Given the description of an element on the screen output the (x, y) to click on. 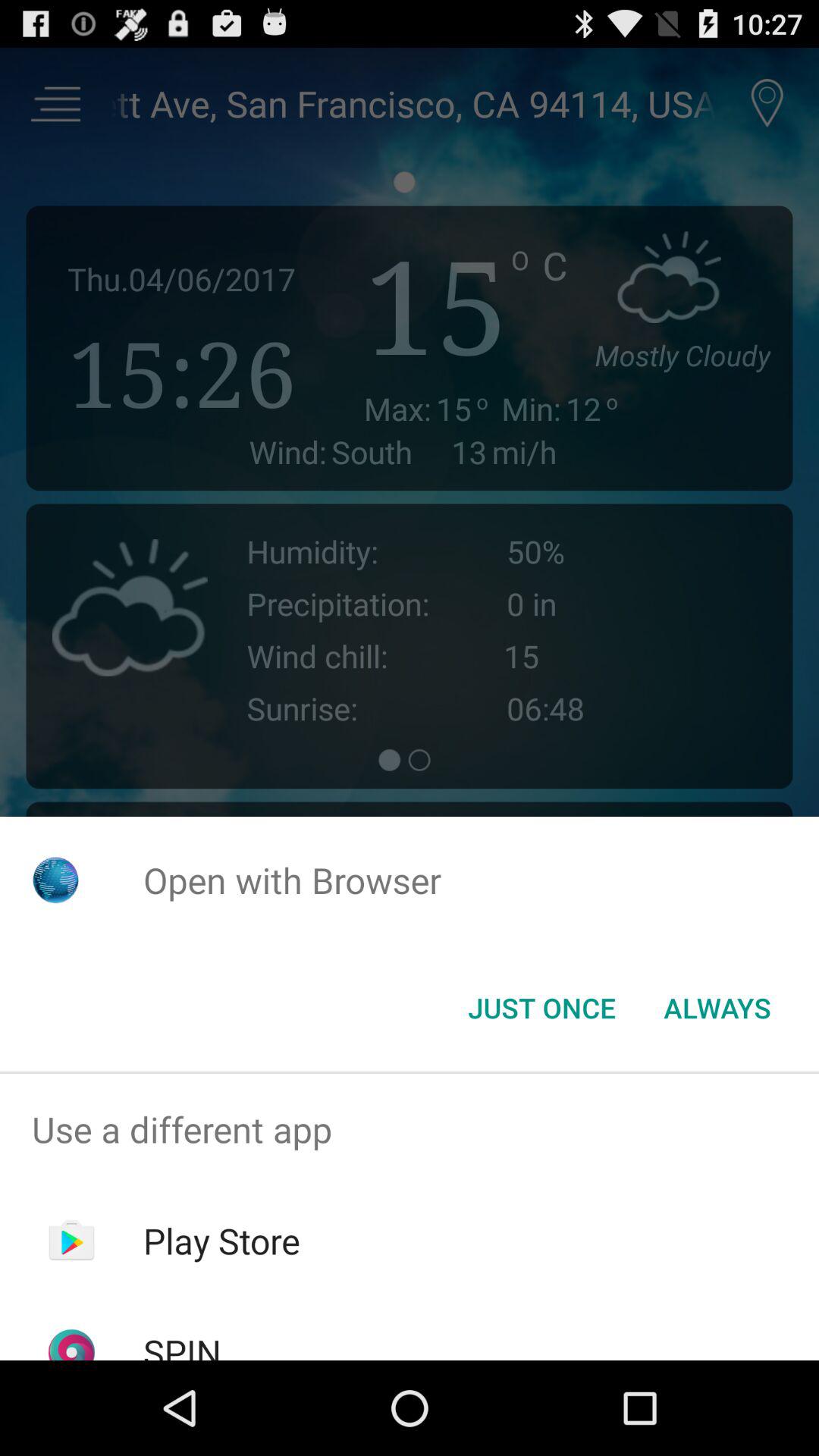
launch the button to the right of the just once (717, 1007)
